Given the description of an element on the screen output the (x, y) to click on. 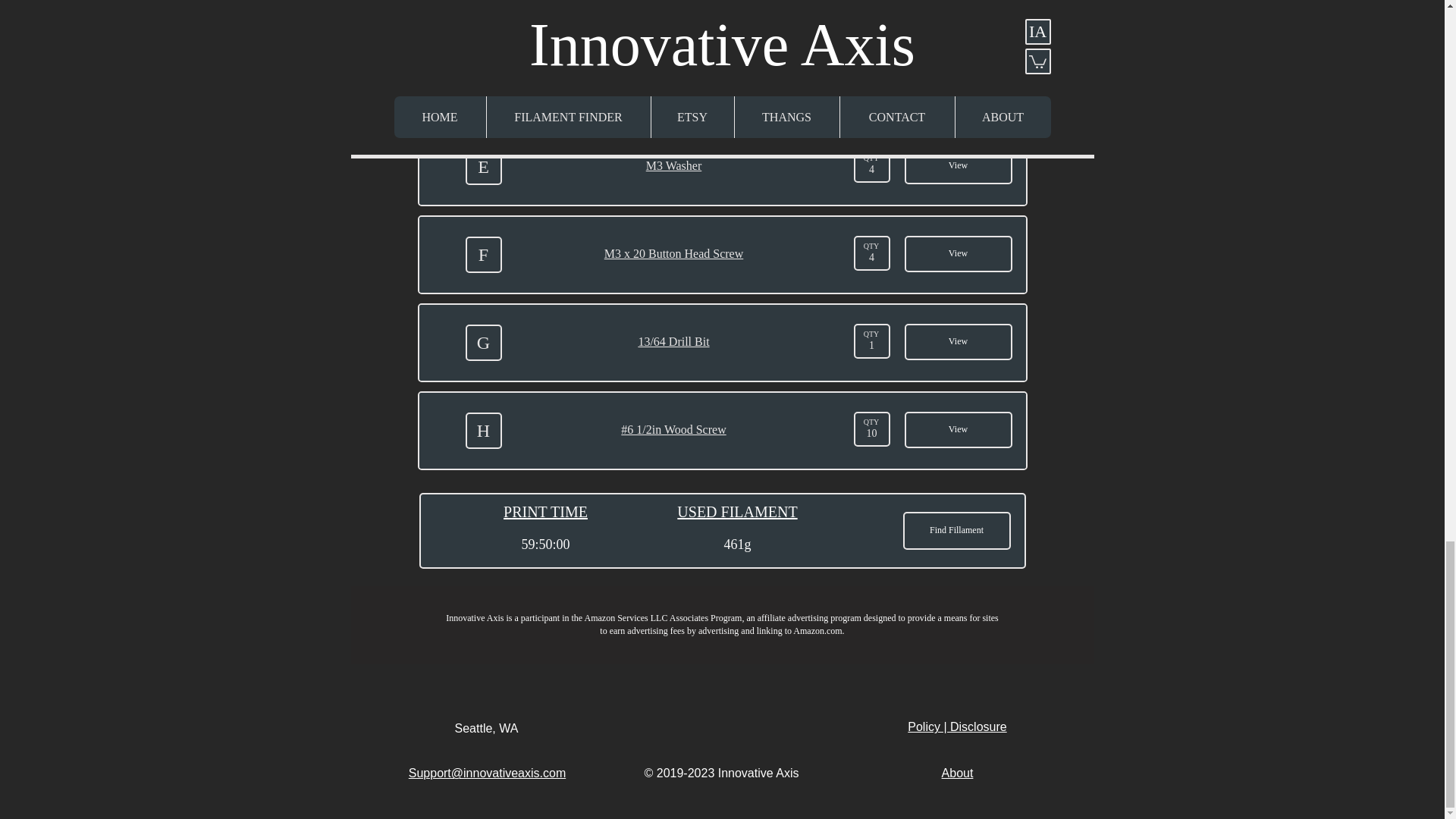
About (958, 772)
View (957, 341)
Find Fillament (956, 530)
View (957, 429)
View (957, 4)
View (957, 166)
View (957, 77)
View (957, 253)
